Given the description of an element on the screen output the (x, y) to click on. 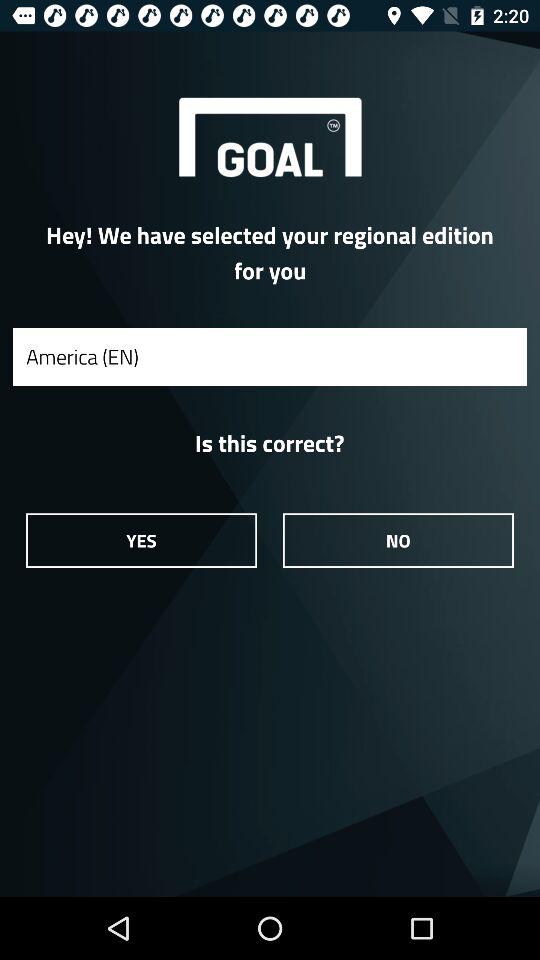
turn on the item next to the no item (141, 540)
